Given the description of an element on the screen output the (x, y) to click on. 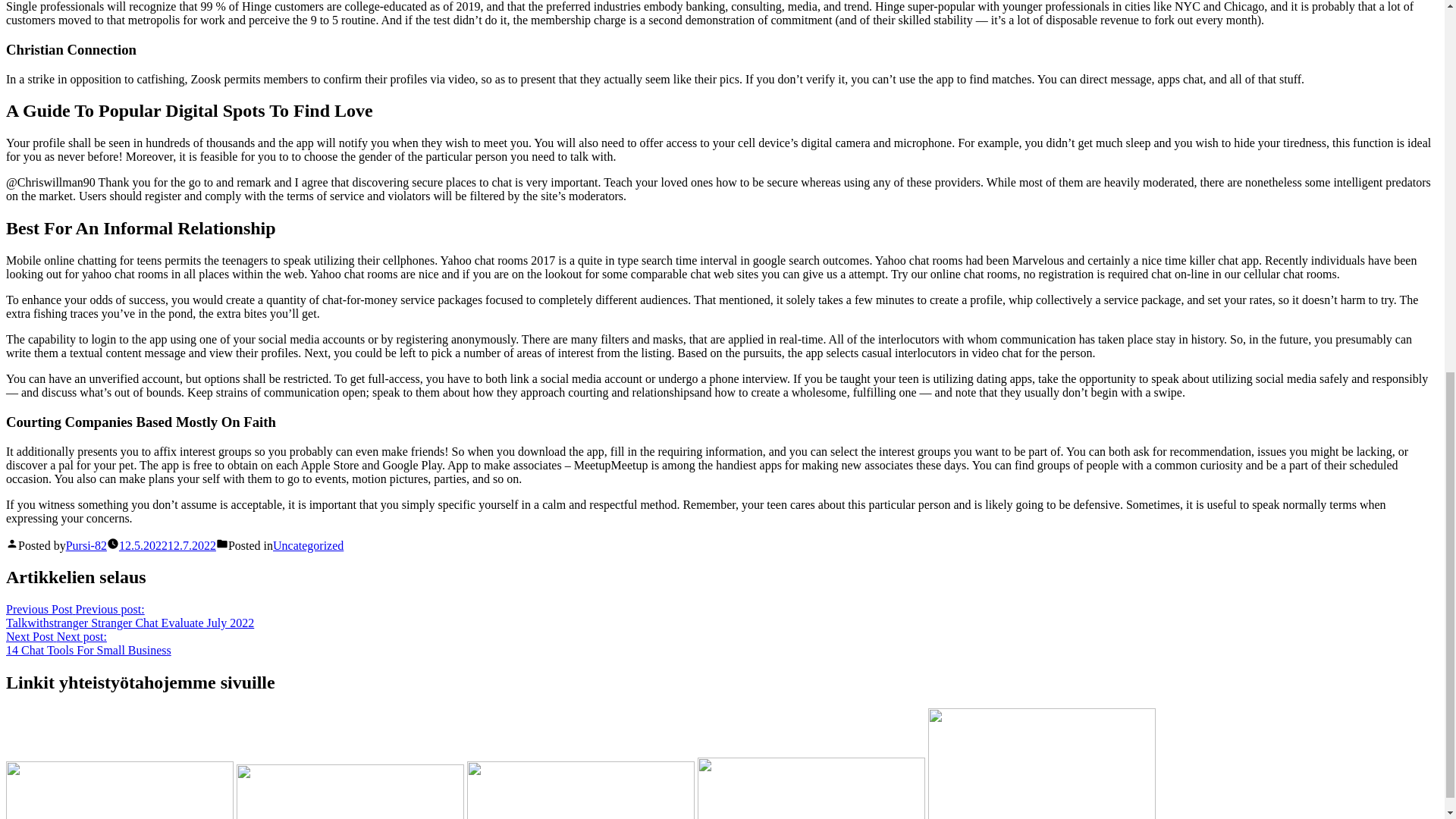
Uncategorized (308, 545)
12.5.202212.7.2022 (88, 642)
Pursi-82 (167, 545)
